Given the description of an element on the screen output the (x, y) to click on. 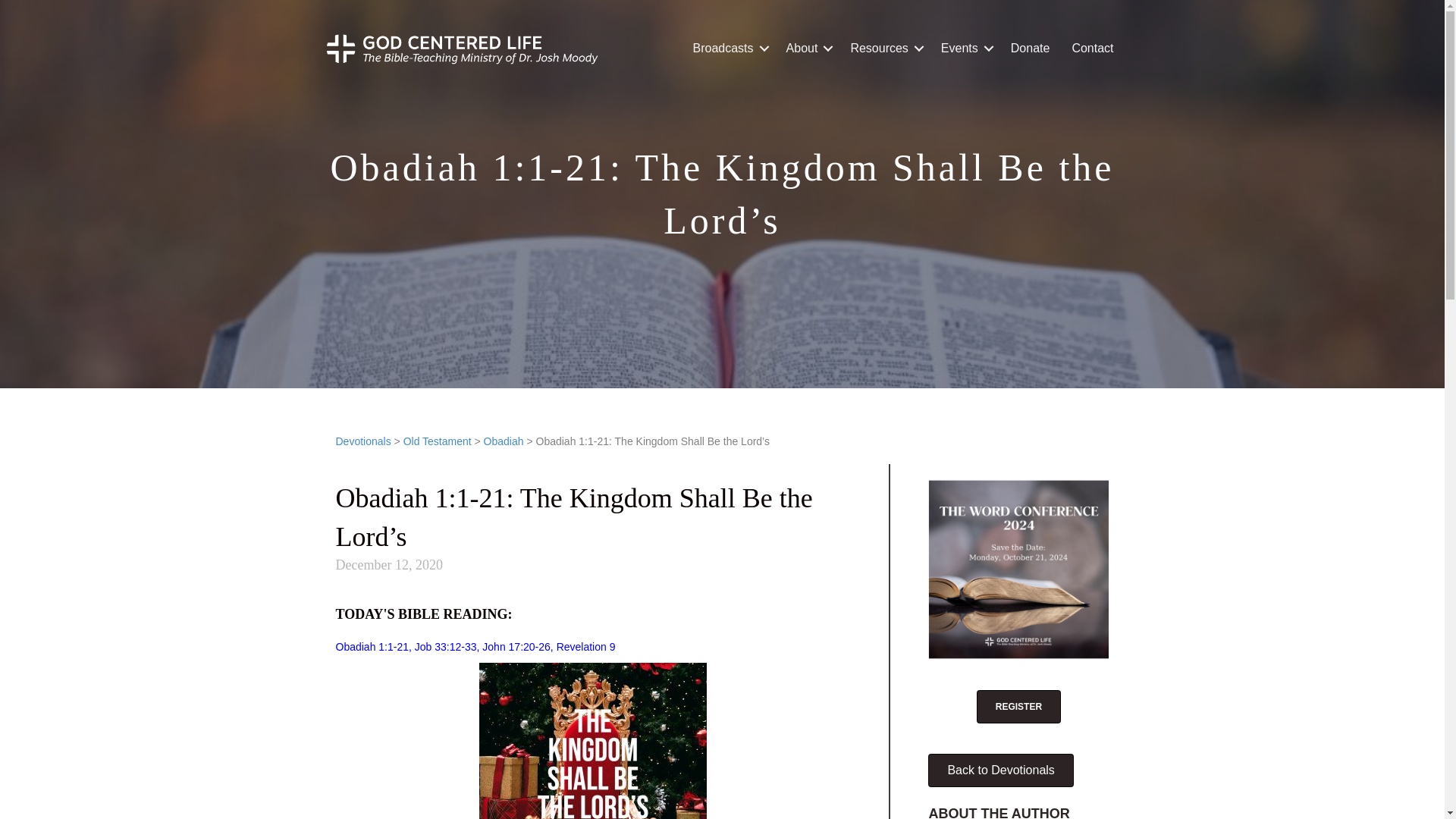
Go to the Obadiah category archives. (503, 440)
Old Testament (437, 440)
Resources (884, 48)
REGISTER (1018, 706)
Job 33:12-33 (445, 646)
About (808, 48)
Donate (1030, 48)
Go to the Devotionals category archives. (362, 440)
Events (964, 48)
John 17:20-26 (515, 646)
Revelation 9 (585, 646)
Broadcasts (728, 48)
Contact (1092, 48)
Go to the Old Testament category archives. (437, 440)
Obadiah (503, 440)
